Given the description of an element on the screen output the (x, y) to click on. 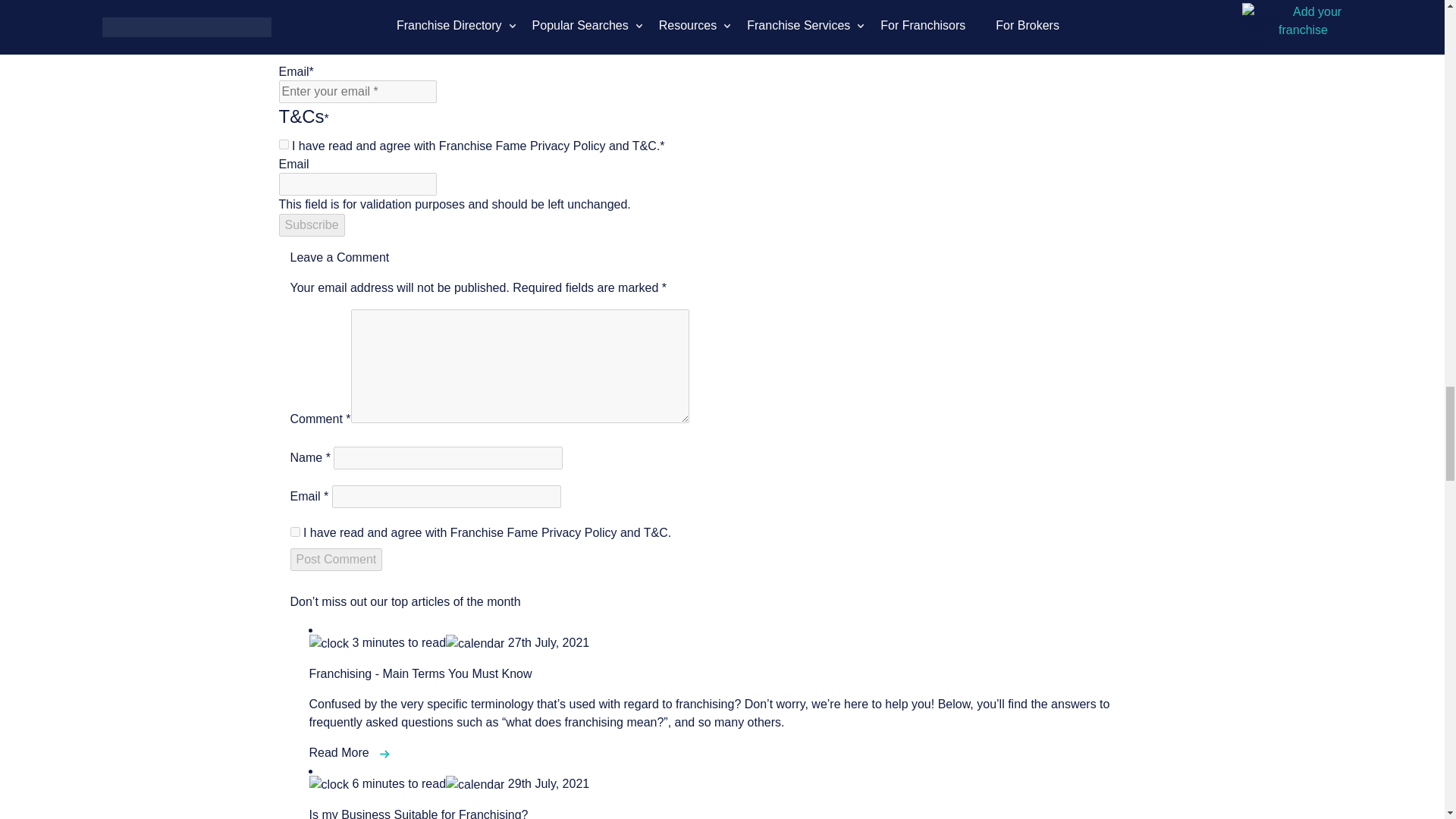
1 (283, 144)
Post Comment (335, 558)
Subscribe (312, 224)
yes (294, 532)
